Given the description of an element on the screen output the (x, y) to click on. 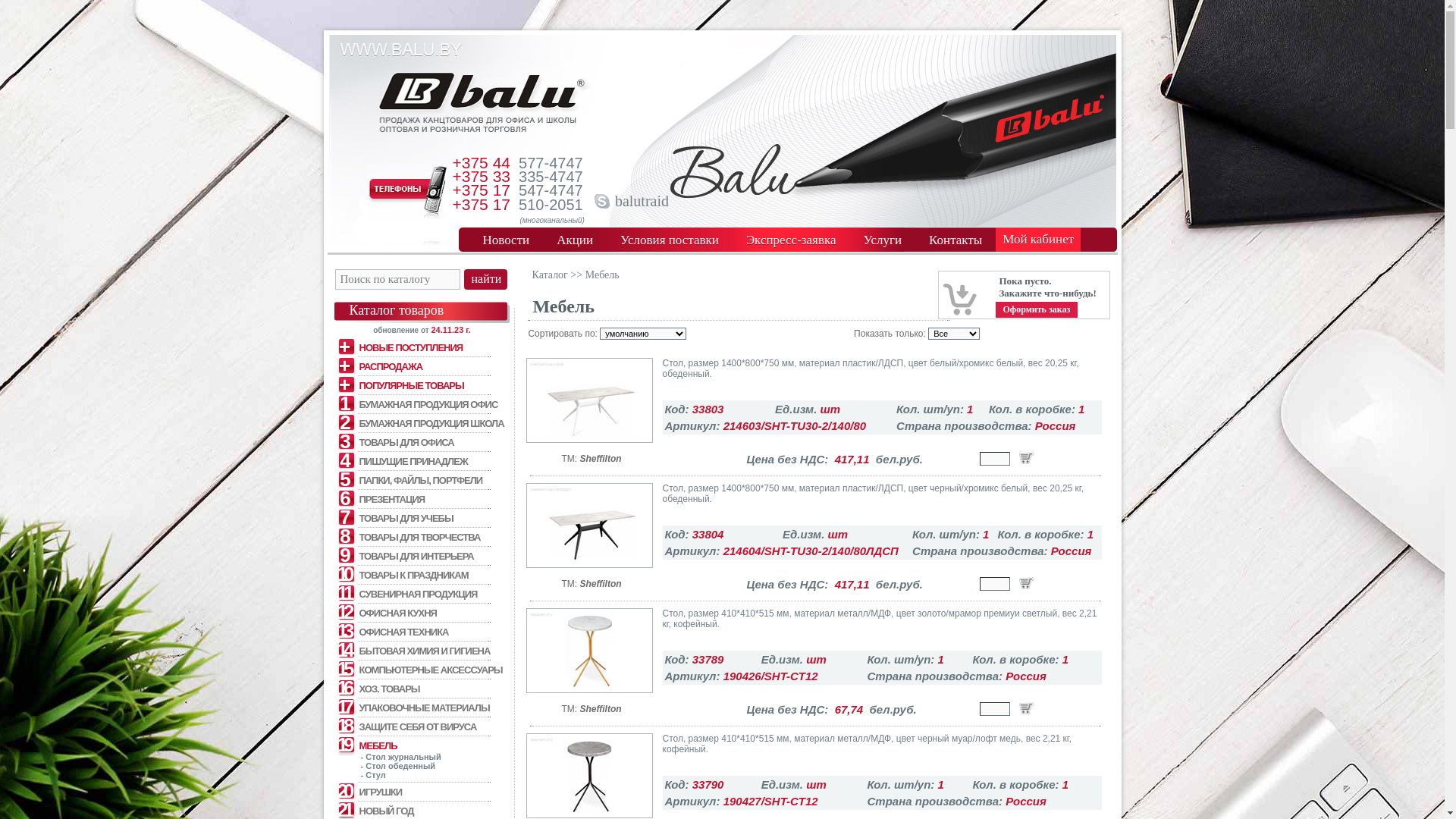
+375 17  547-4747 Element type: text (516, 190)
getit Element type: hover (1025, 584)
190427/SHT-CT12 Element type: hover (589, 775)
+375 17  510-2051 Element type: text (516, 204)
+375 33  335-4747 Element type: text (516, 176)
getit Element type: hover (1025, 709)
getit Element type: hover (1025, 459)
190426/SHT-CT12 Element type: hover (589, 650)
balutraid Element type: text (641, 200)
+375 44  577-4747 Element type: text (516, 162)
214603/SHT-TU30-2/140/80 Element type: hover (589, 399)
